Given the description of an element on the screen output the (x, y) to click on. 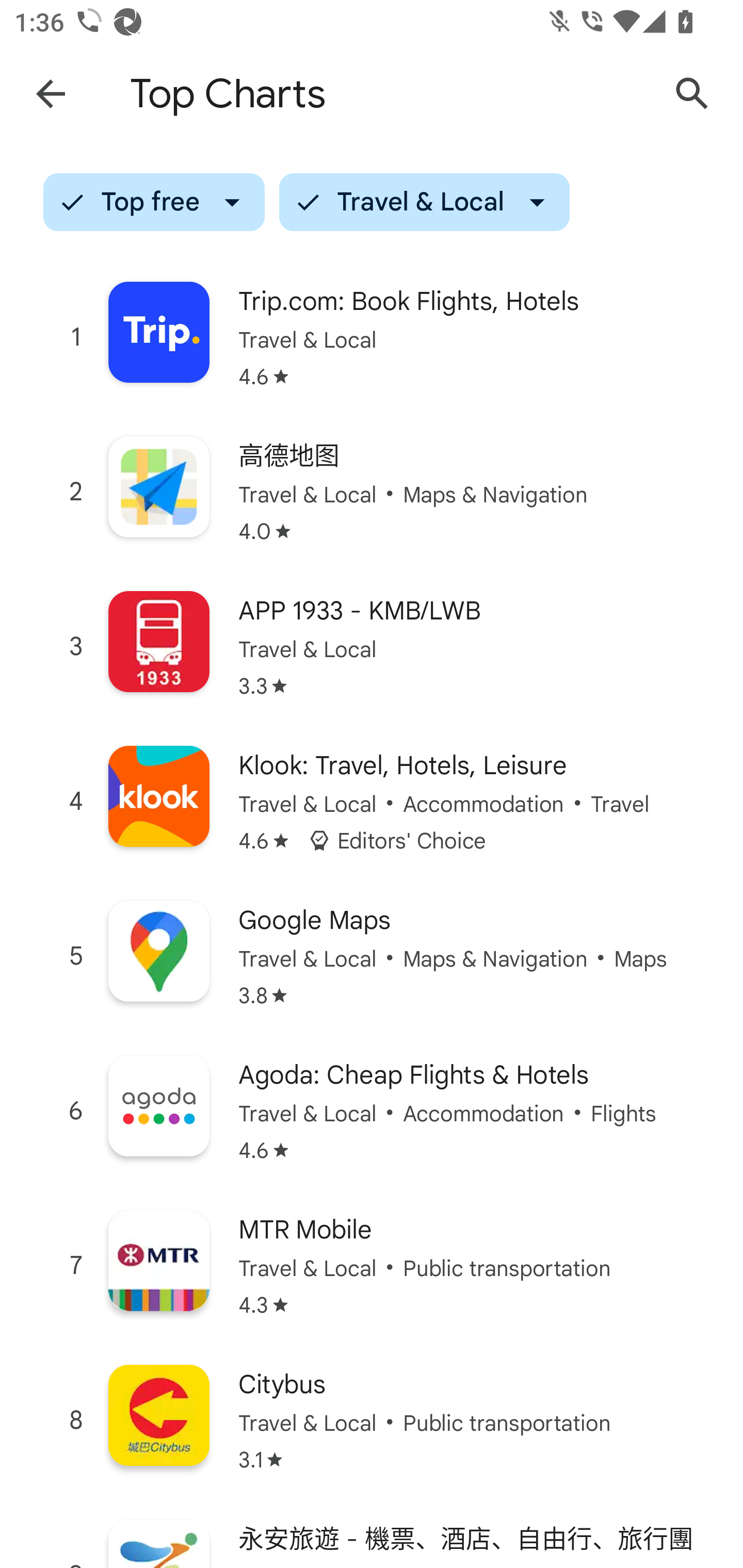
Navigate up (50, 93)
Search Google Play (692, 93)
